Given the description of an element on the screen output the (x, y) to click on. 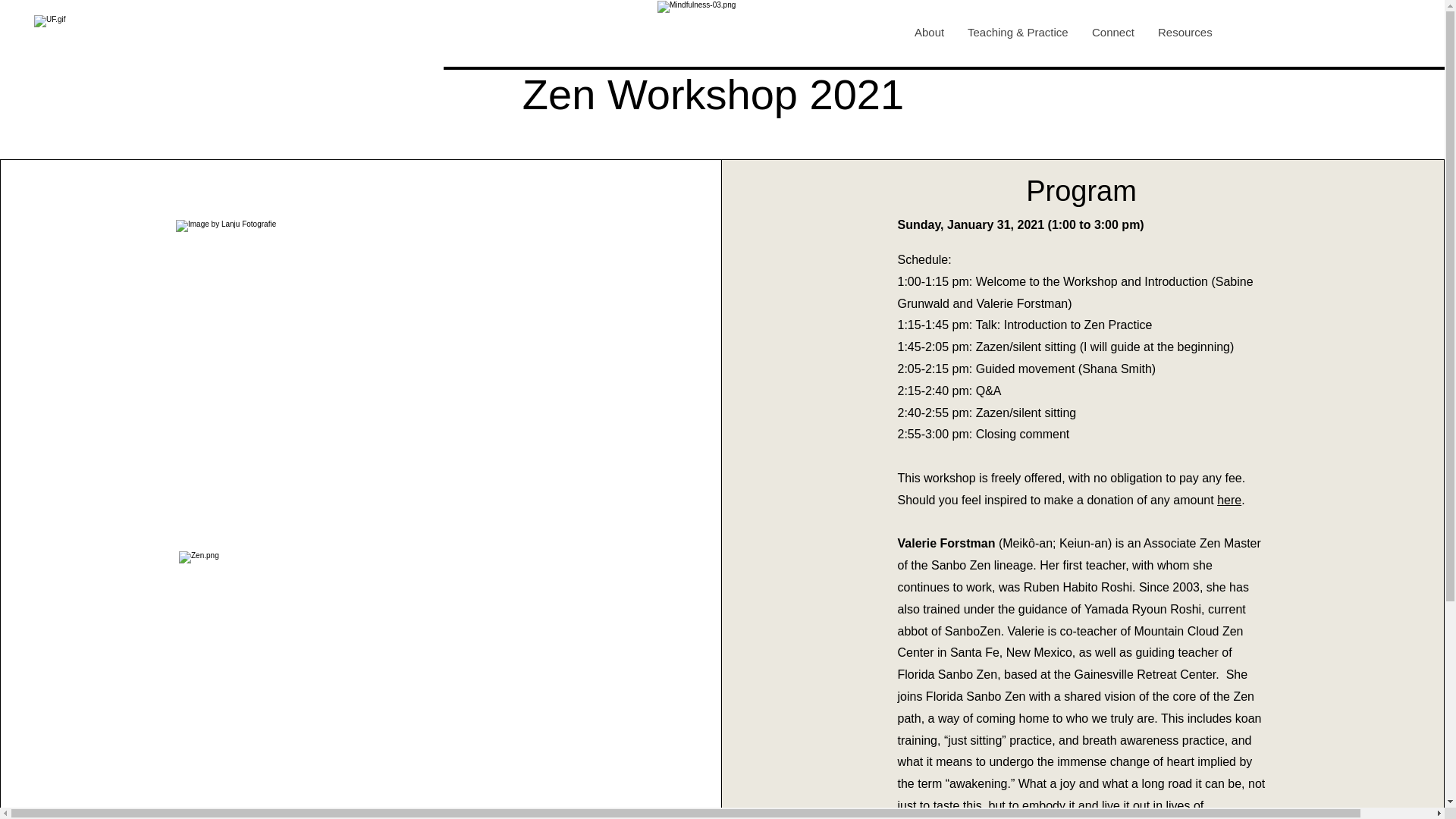
Resources (1184, 32)
Connect (1112, 32)
About (928, 32)
here (1229, 499)
